Given the description of an element on the screen output the (x, y) to click on. 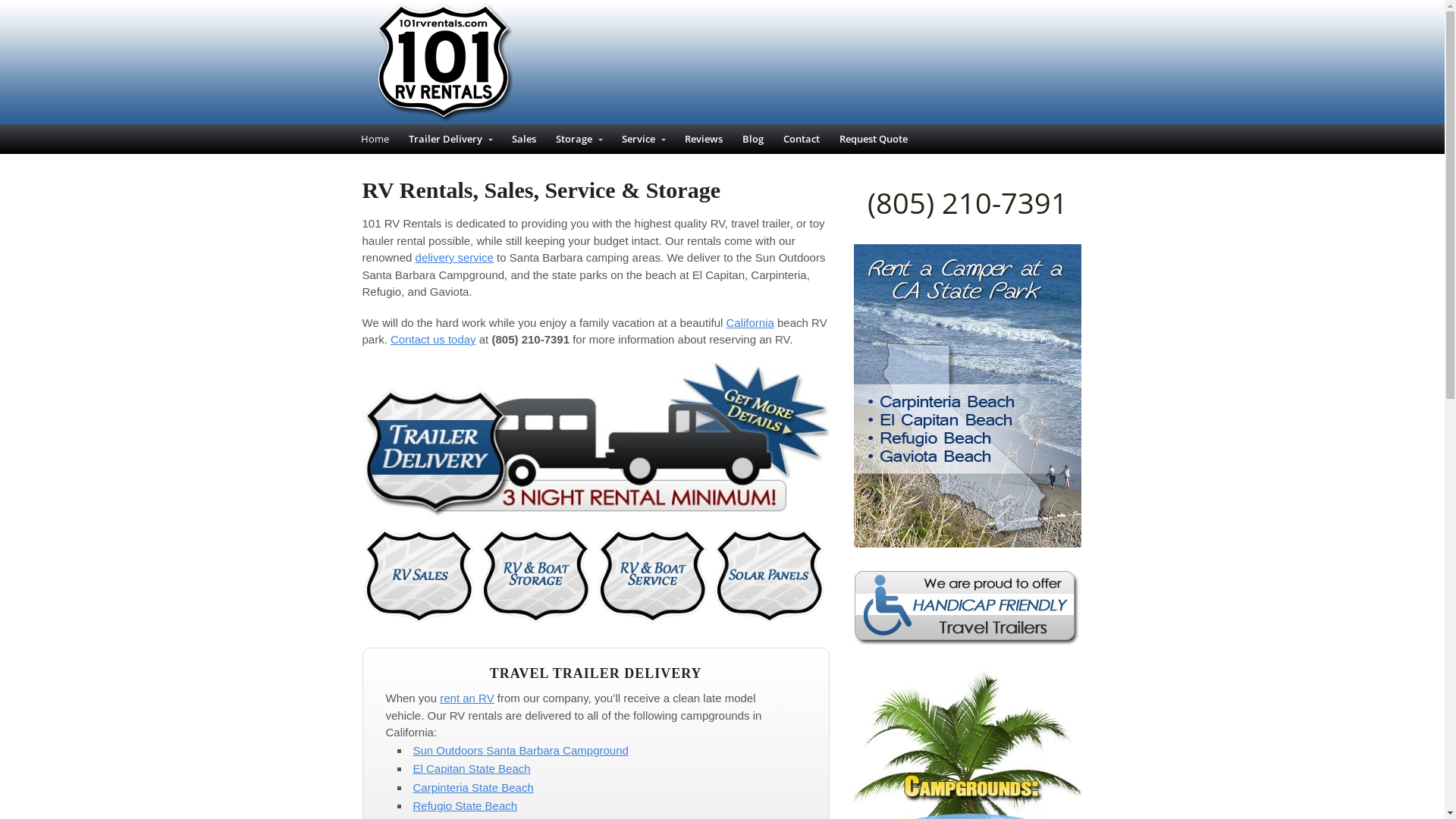
rent an RV Element type: text (466, 697)
Sun Outdoors Santa Barbara Campground Element type: text (519, 749)
Blog Element type: text (752, 138)
Contact us today Element type: text (433, 338)
Sales Element type: text (524, 138)
Refugio State Beach Element type: text (464, 805)
delivery service Element type: text (454, 257)
Reviews Element type: text (703, 138)
Request Quote Element type: text (873, 138)
Service Element type: text (642, 138)
Carpinteria State Beach Element type: text (472, 787)
Contact Element type: text (801, 138)
California Element type: text (749, 321)
Trailer Delivery Element type: text (450, 138)
Storage Element type: text (578, 138)
El Capitan State Beach Element type: text (471, 768)
Home Element type: text (374, 138)
